Given the description of an element on the screen output the (x, y) to click on. 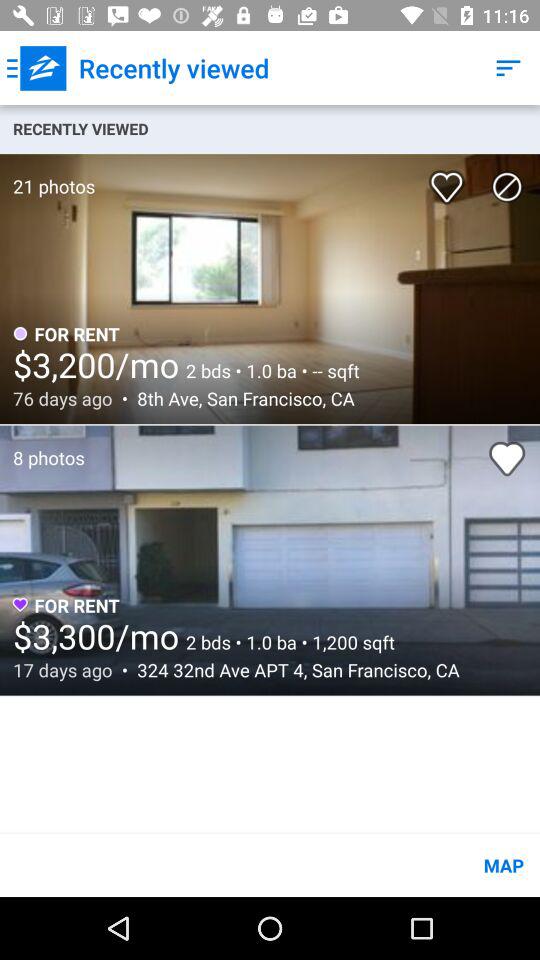
choose item next to the recently viewed app (36, 68)
